Given the description of an element on the screen output the (x, y) to click on. 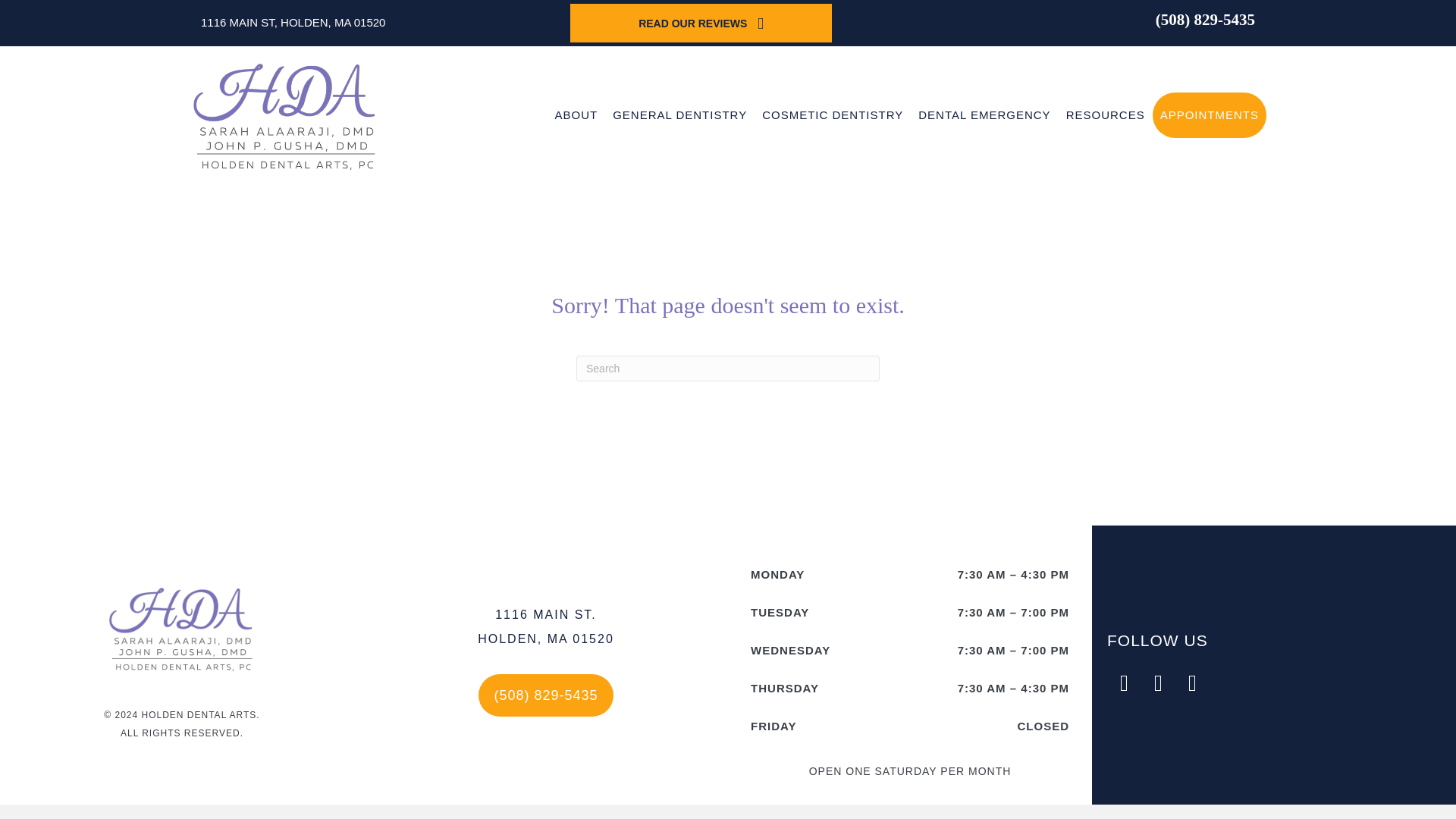
READ OUR REVIEWS (700, 23)
Type and press Enter to search. (727, 368)
holden-dental-arts-logo-4 (181, 627)
1116 MAIN ST, HOLDEN, MA 01520 (292, 22)
holden-dental-arts-logo-4 (285, 114)
Google Business Profile (1191, 683)
